Given the description of an element on the screen output the (x, y) to click on. 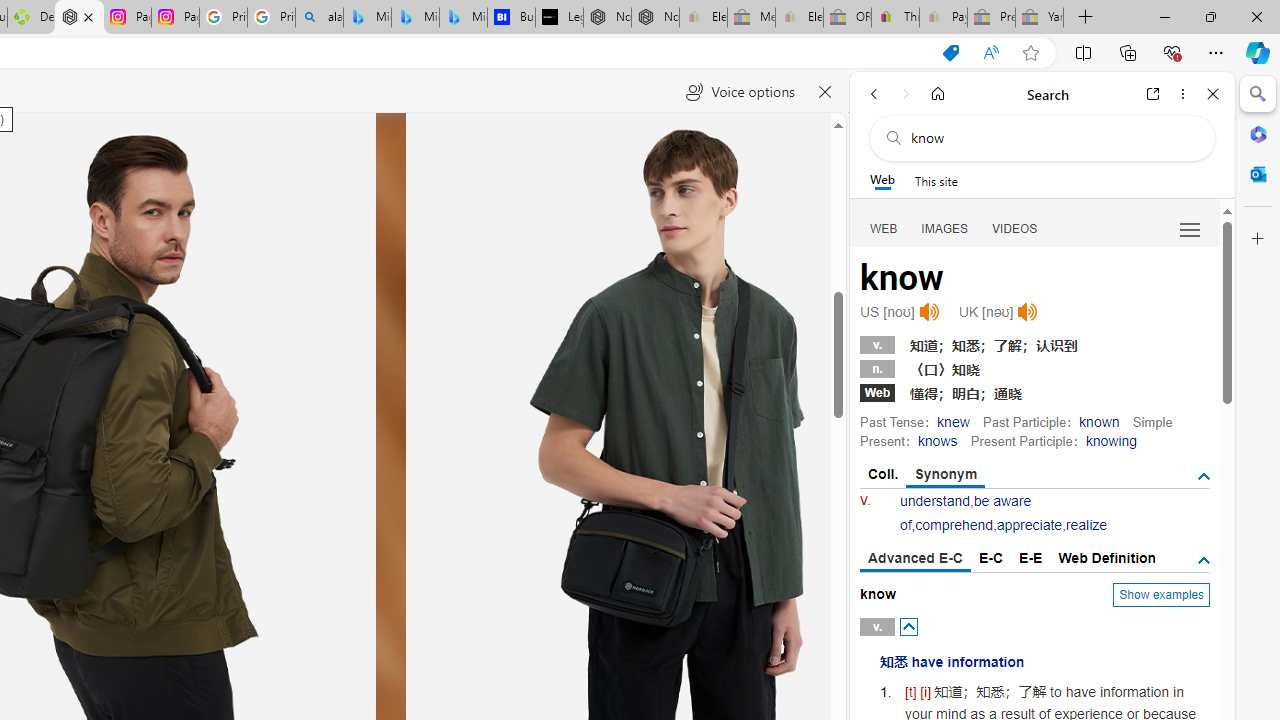
Customize (1258, 239)
be aware of (965, 512)
knew (953, 421)
Search Filter, IMAGES (944, 228)
knows (936, 440)
Nordace - Nordace Edin Collection (79, 17)
E-E (1030, 557)
This site scope (936, 180)
realize (1086, 524)
Voice options (740, 92)
knowing (1110, 440)
Microsoft 365 (1258, 133)
comprehend (954, 524)
Press Room - eBay Inc. - Sleeping (991, 17)
